Given the description of an element on the screen output the (x, y) to click on. 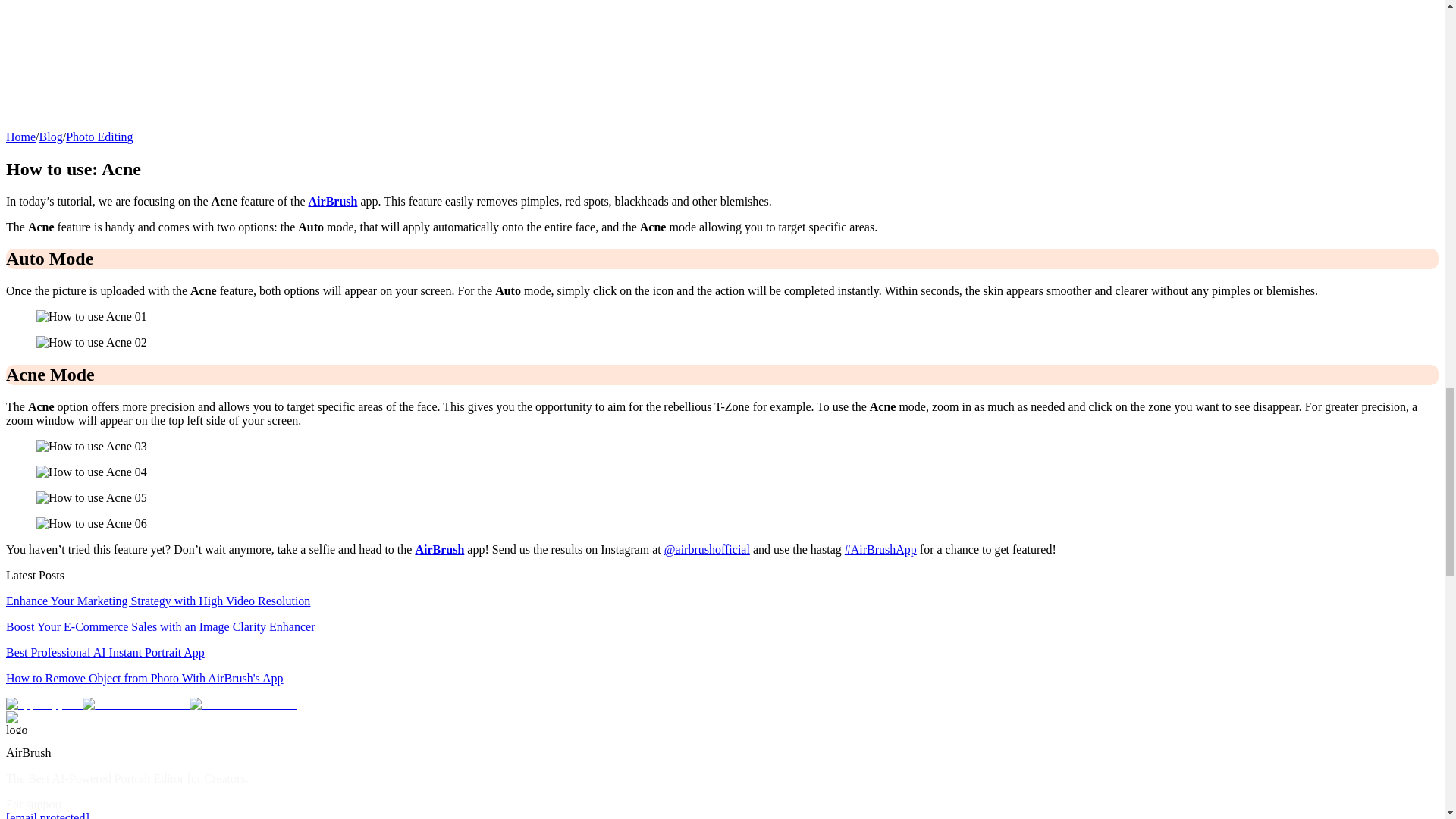
Home (19, 136)
AirBrush (333, 200)
Photo Editing (98, 136)
AirBrush (439, 549)
Blog (50, 136)
